Given the description of an element on the screen output the (x, y) to click on. 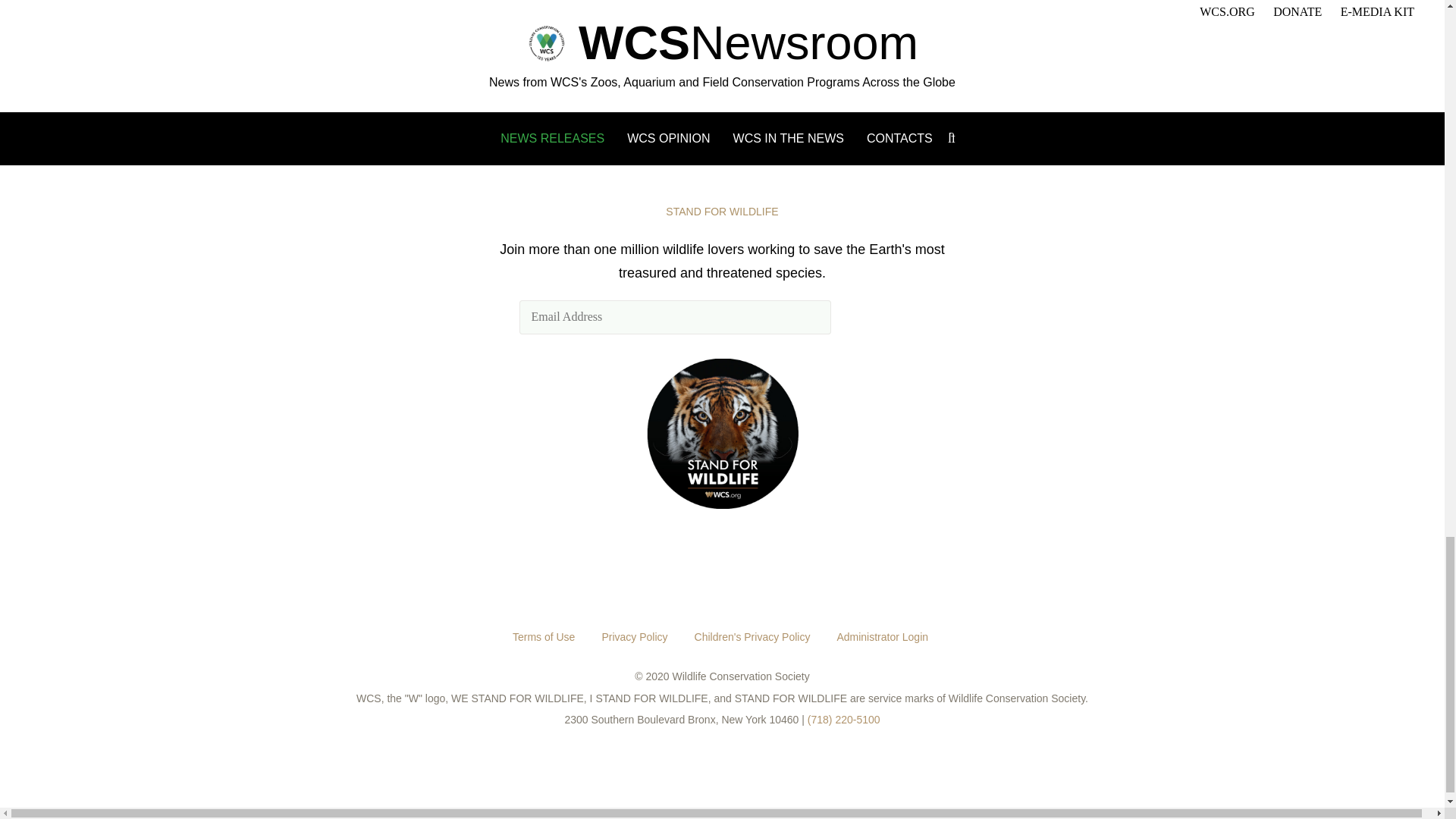
Administrator Login (882, 636)
Terms of Use (543, 636)
Children's Privacy Policy (752, 636)
SIGN UP (880, 317)
Privacy Policy (634, 636)
